Given the description of an element on the screen output the (x, y) to click on. 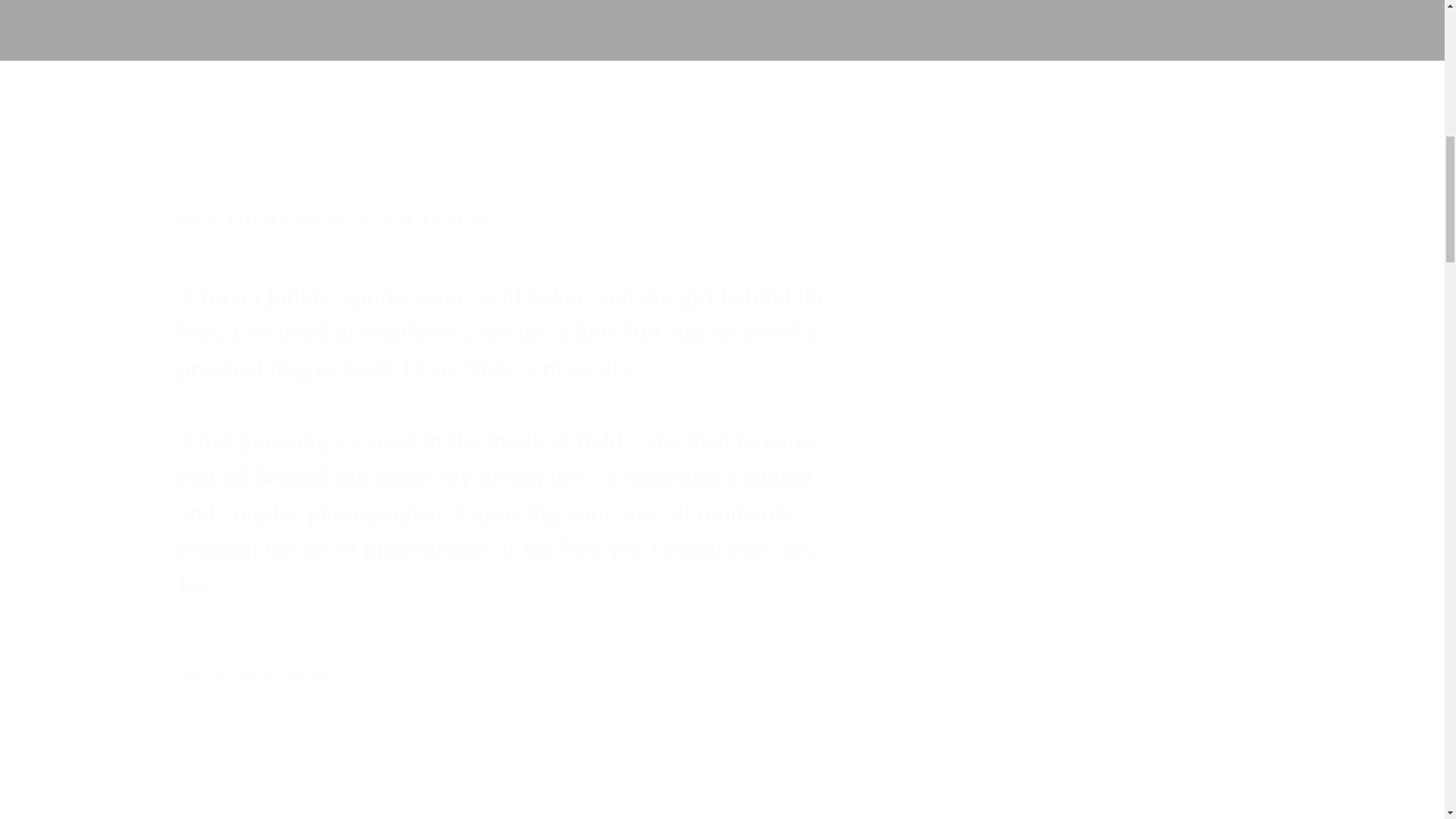
CHECK OUT MY WORK (254, 680)
